Given the description of an element on the screen output the (x, y) to click on. 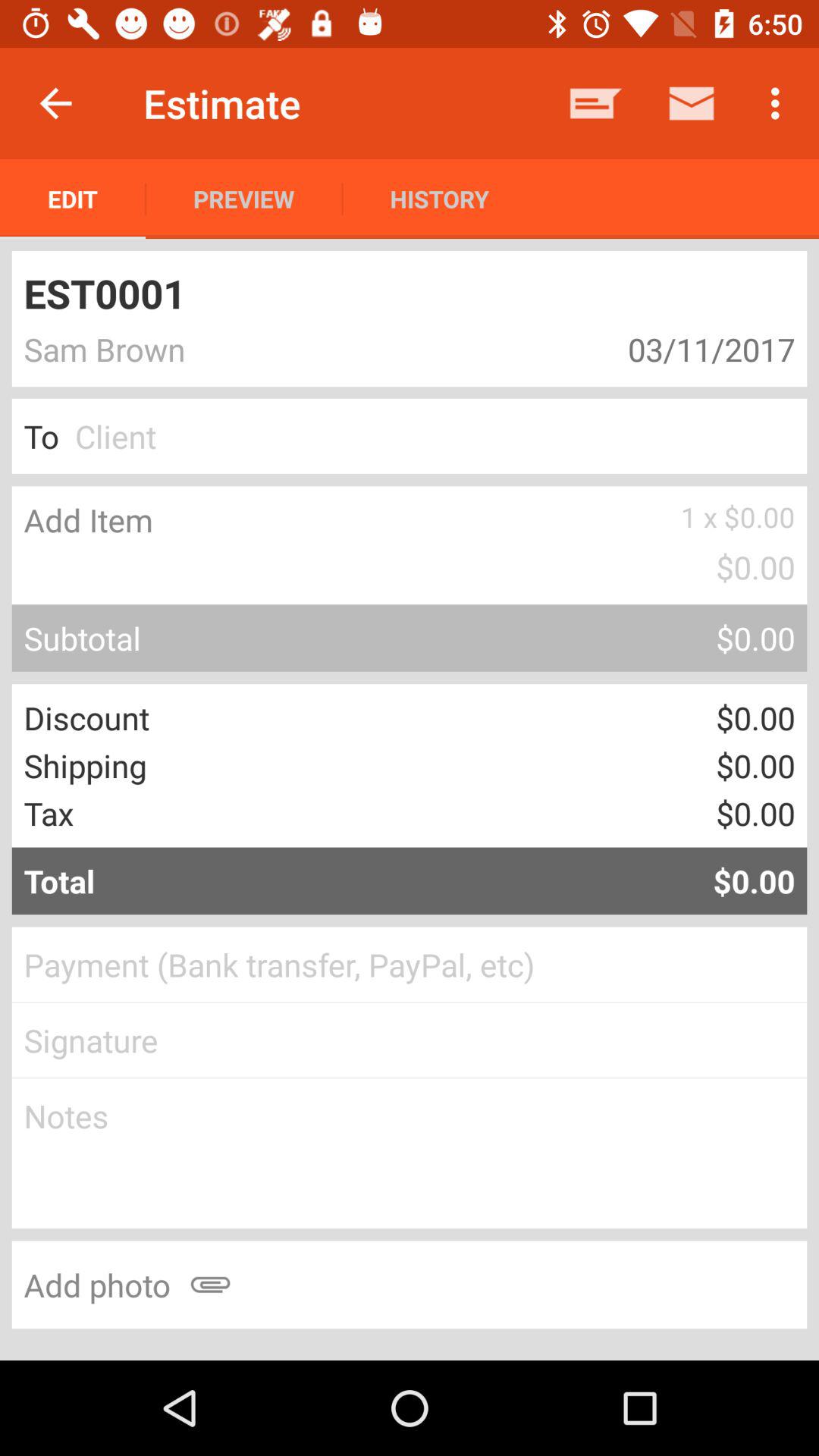
flip to edit item (72, 198)
